Given the description of an element on the screen output the (x, y) to click on. 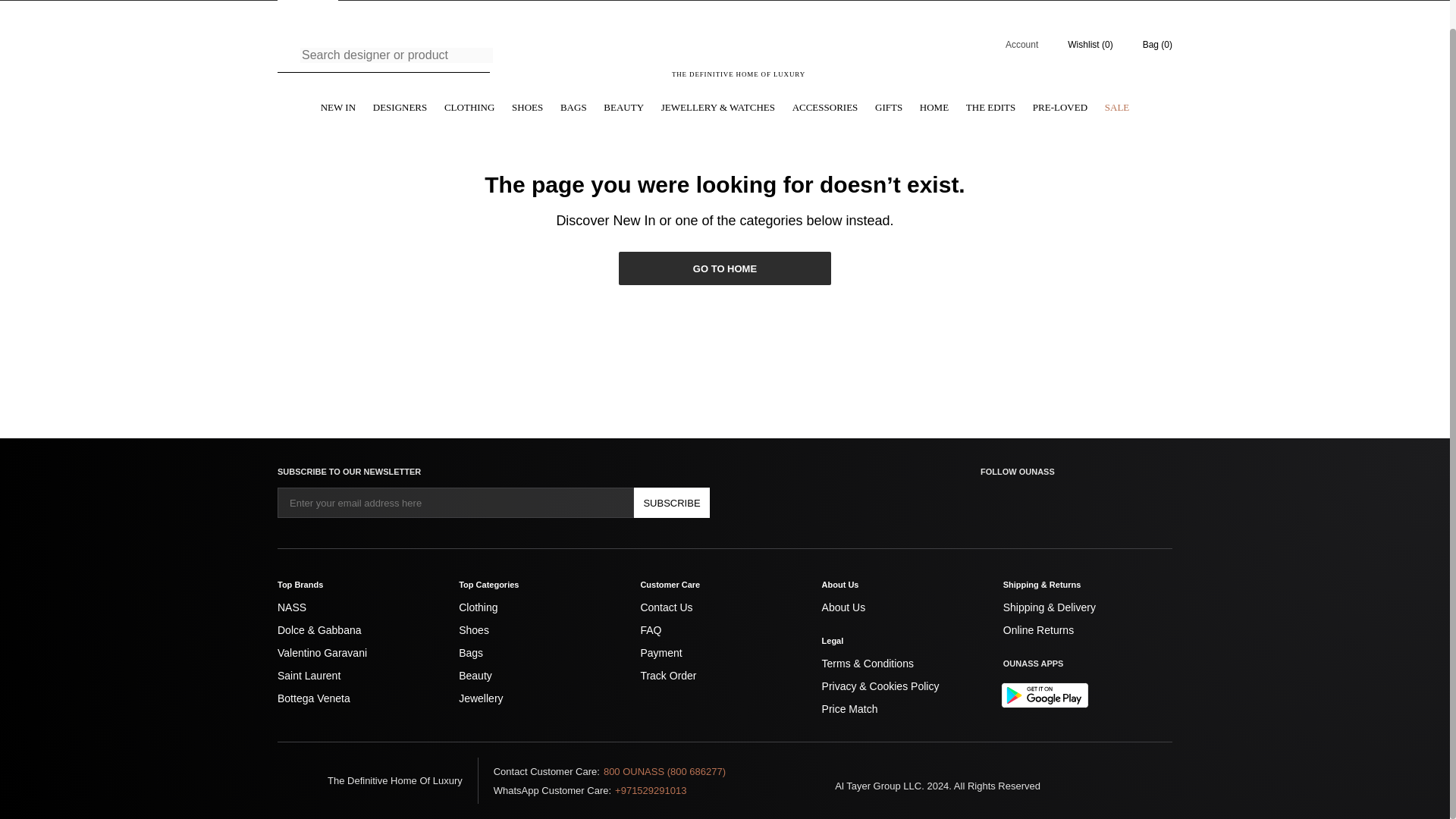
GIFTS (888, 108)
DESIGNERS (400, 108)
NEW IN (337, 108)
CLOTHING (469, 108)
SHOES (527, 108)
BAGS (573, 108)
Account (1012, 44)
THE DEFINITIVE HOME OF LUXURY (738, 54)
SALE (1117, 108)
SUBSCRIBE (671, 502)
